Given the description of an element on the screen output the (x, y) to click on. 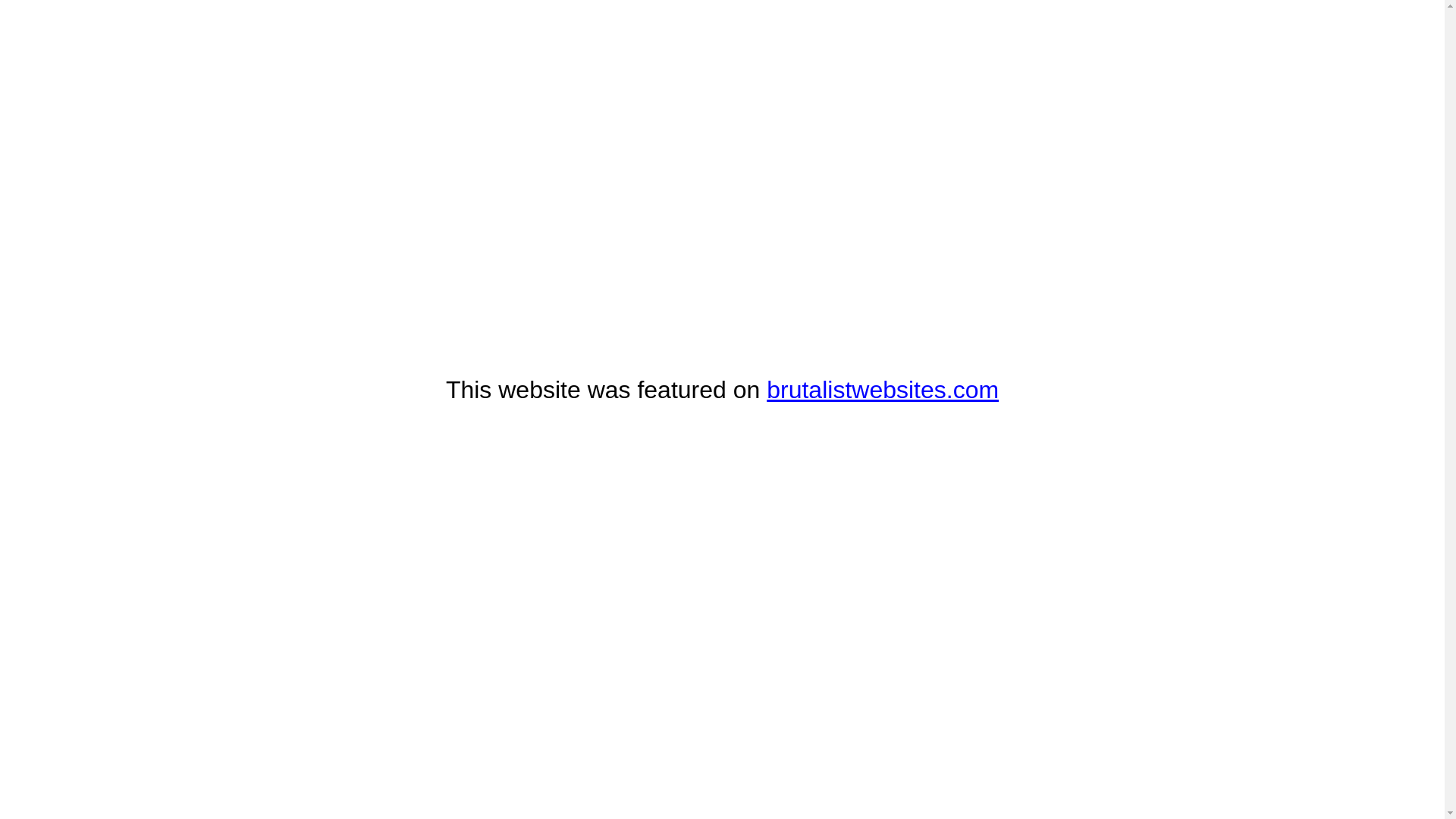
brutalistwebsites.com Element type: text (882, 389)
